Given the description of an element on the screen output the (x, y) to click on. 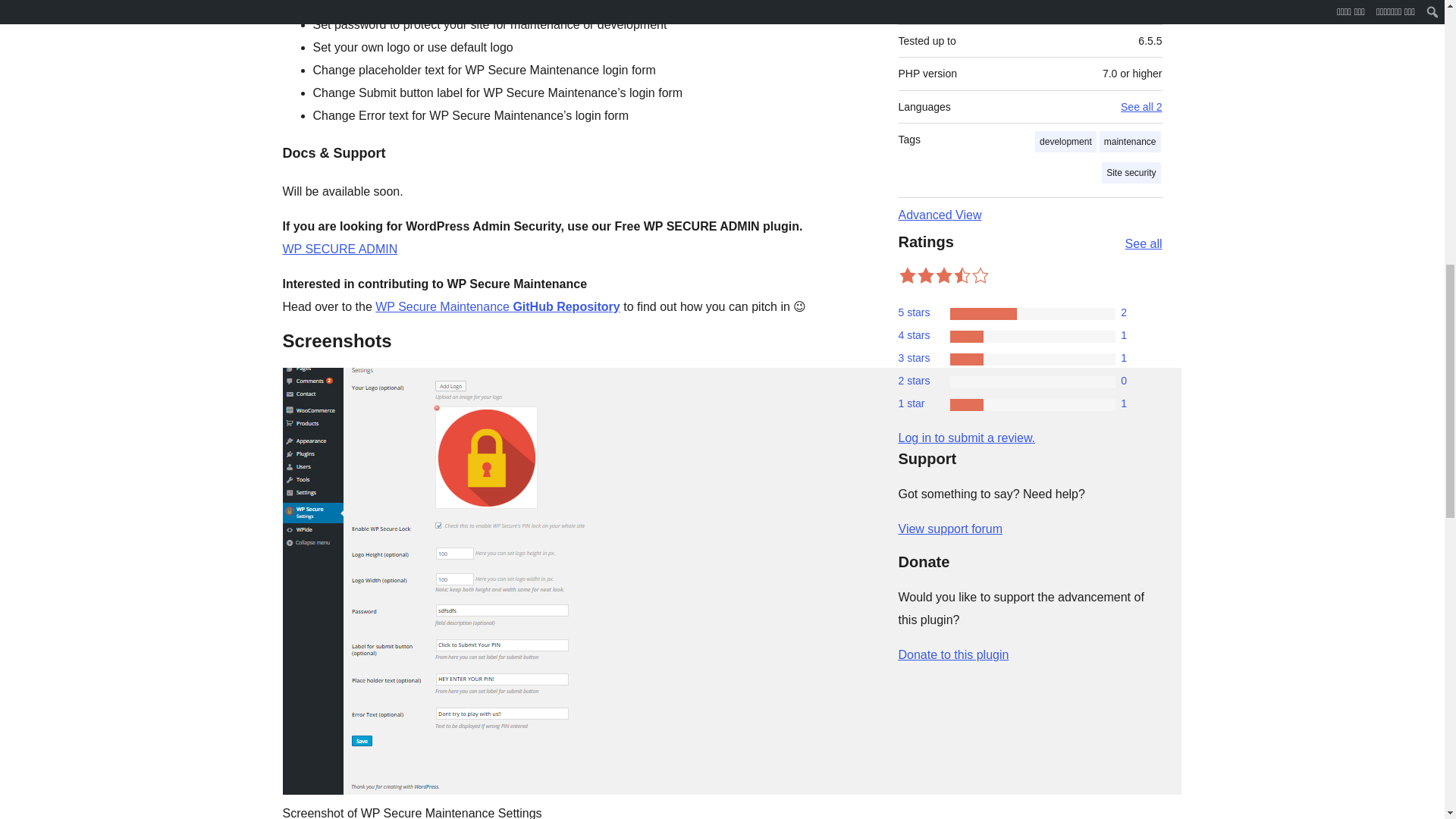
WP SECURE ADMIN (339, 248)
Log in to WordPress.org (966, 437)
WP Secure Maintenance GitHub Repository (497, 306)
